Given the description of an element on the screen output the (x, y) to click on. 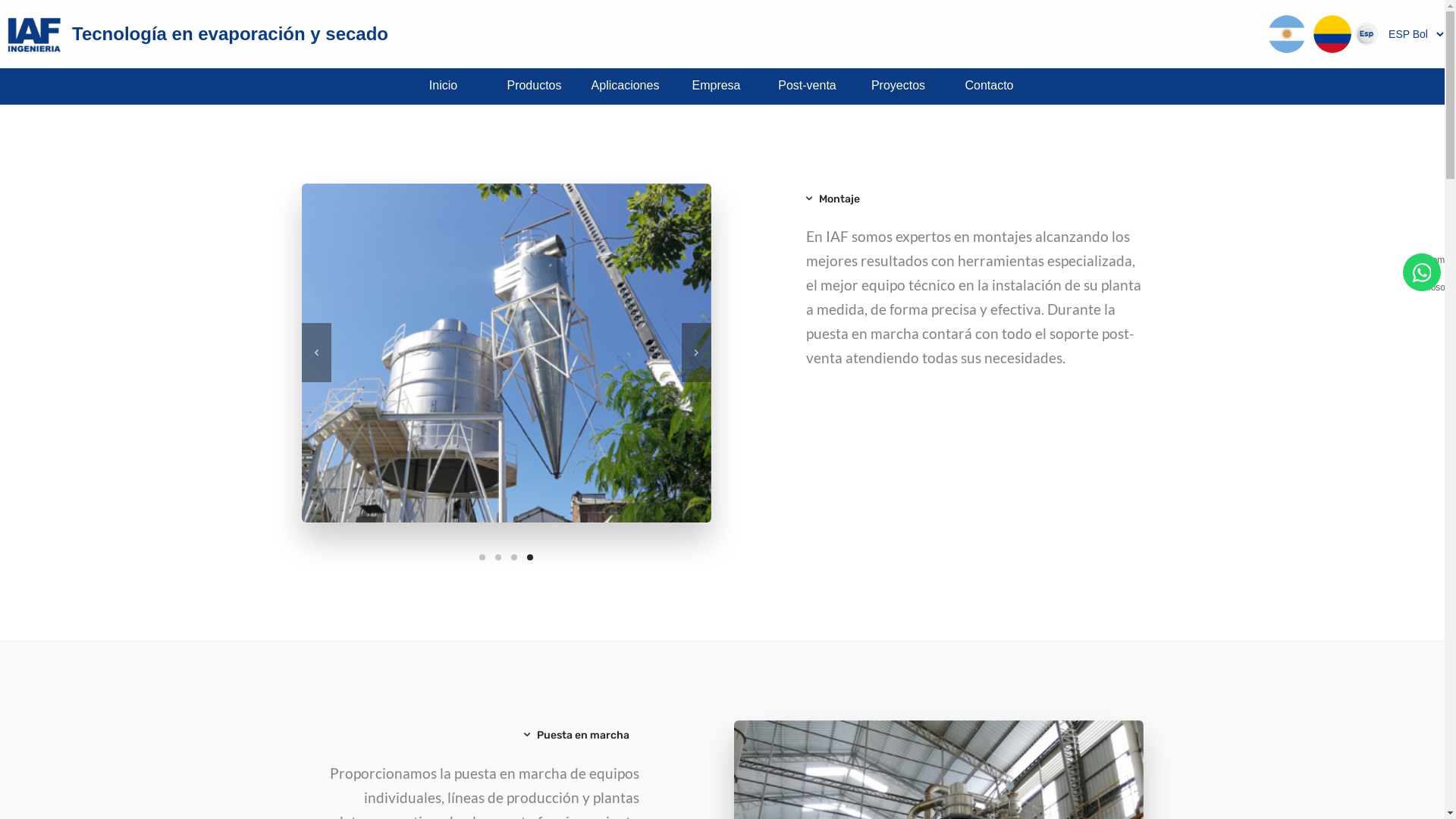
Contacto Element type: text (988, 86)
Whatsapp Element type: hover (1421, 271)
Aplicaciones Element type: text (624, 86)
Proyectos Element type: text (897, 86)
Inicio Element type: text (442, 86)
Empresa Element type: text (715, 86)
Post-venta Element type: text (806, 86)
Productos Element type: text (533, 86)
